Given the description of an element on the screen output the (x, y) to click on. 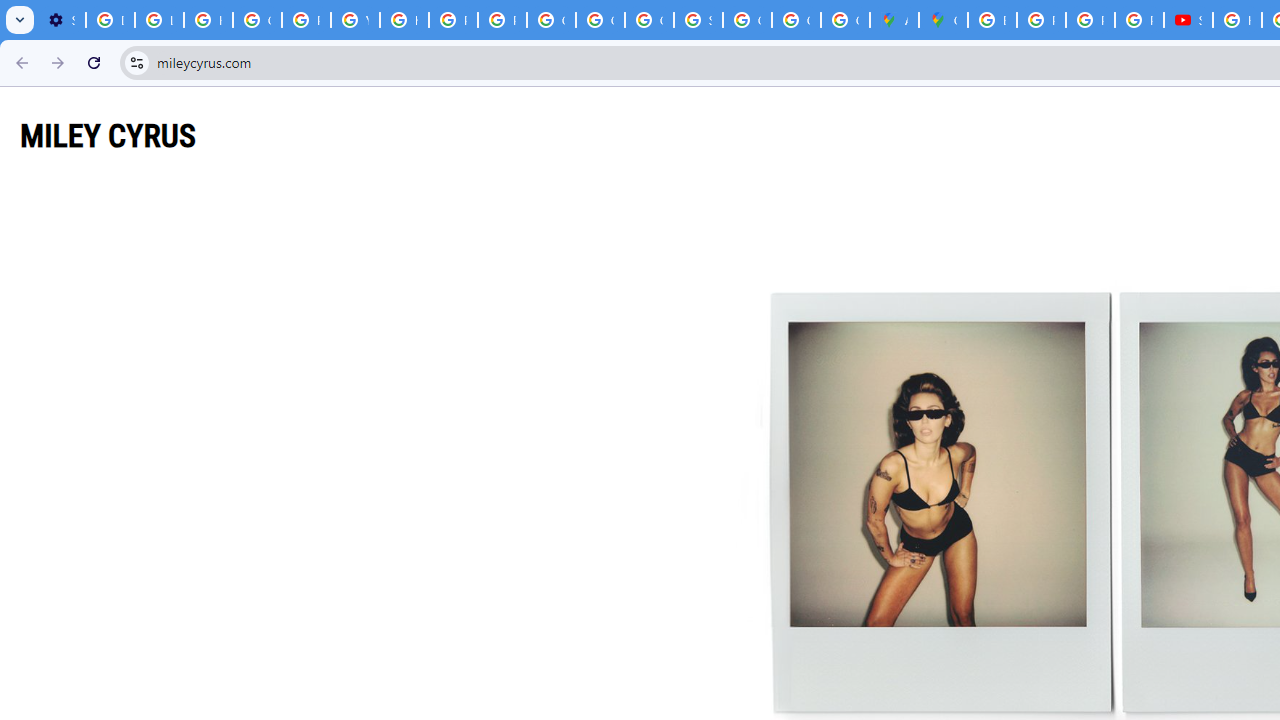
https://scholar.google.com/ (404, 20)
